Given the description of an element on the screen output the (x, y) to click on. 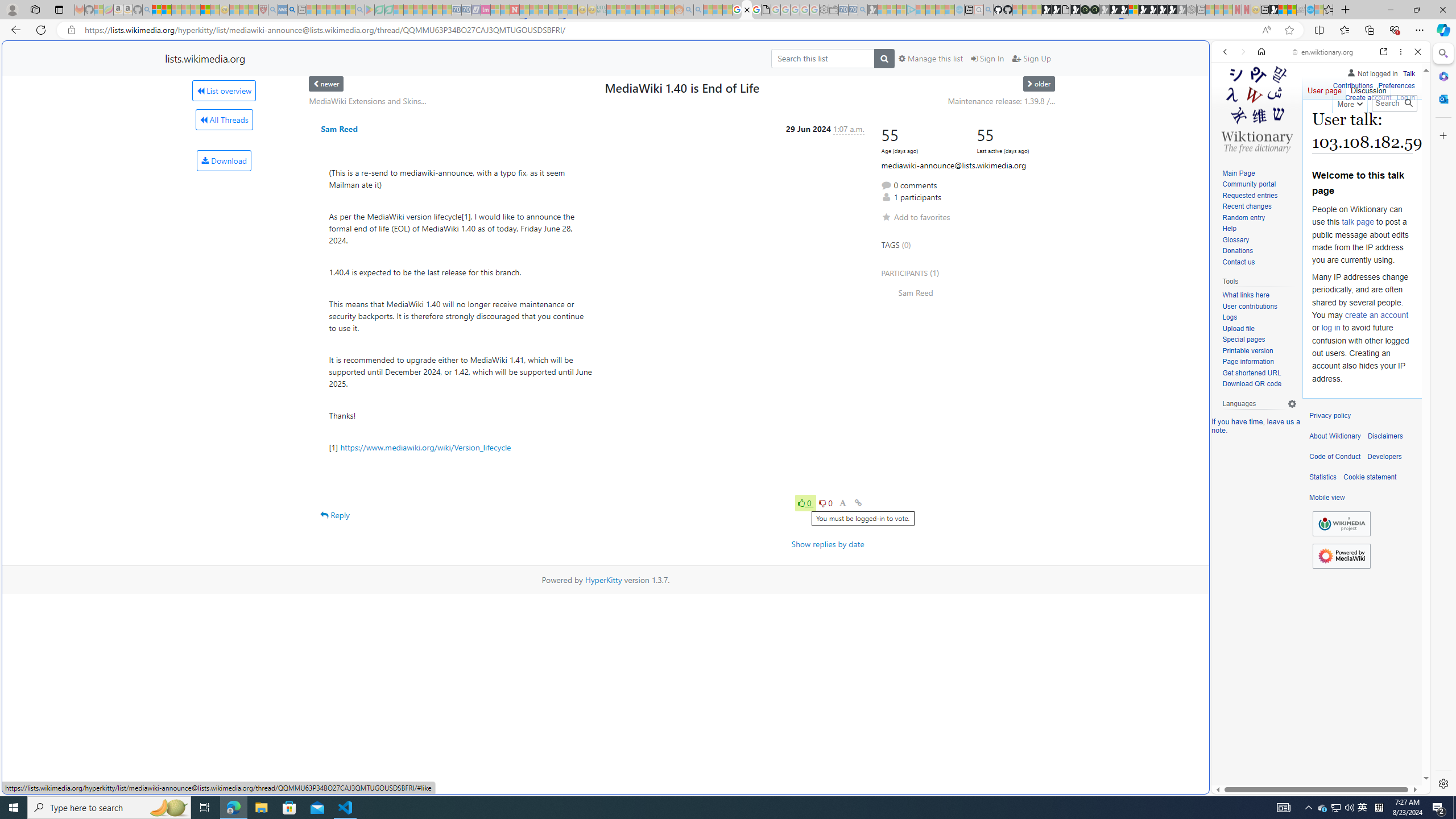
Requested entries (1249, 194)
Get shortened URL (1251, 372)
AutomationID: footer-copyrightico (1341, 523)
Talk (1408, 71)
